Given the description of an element on the screen output the (x, y) to click on. 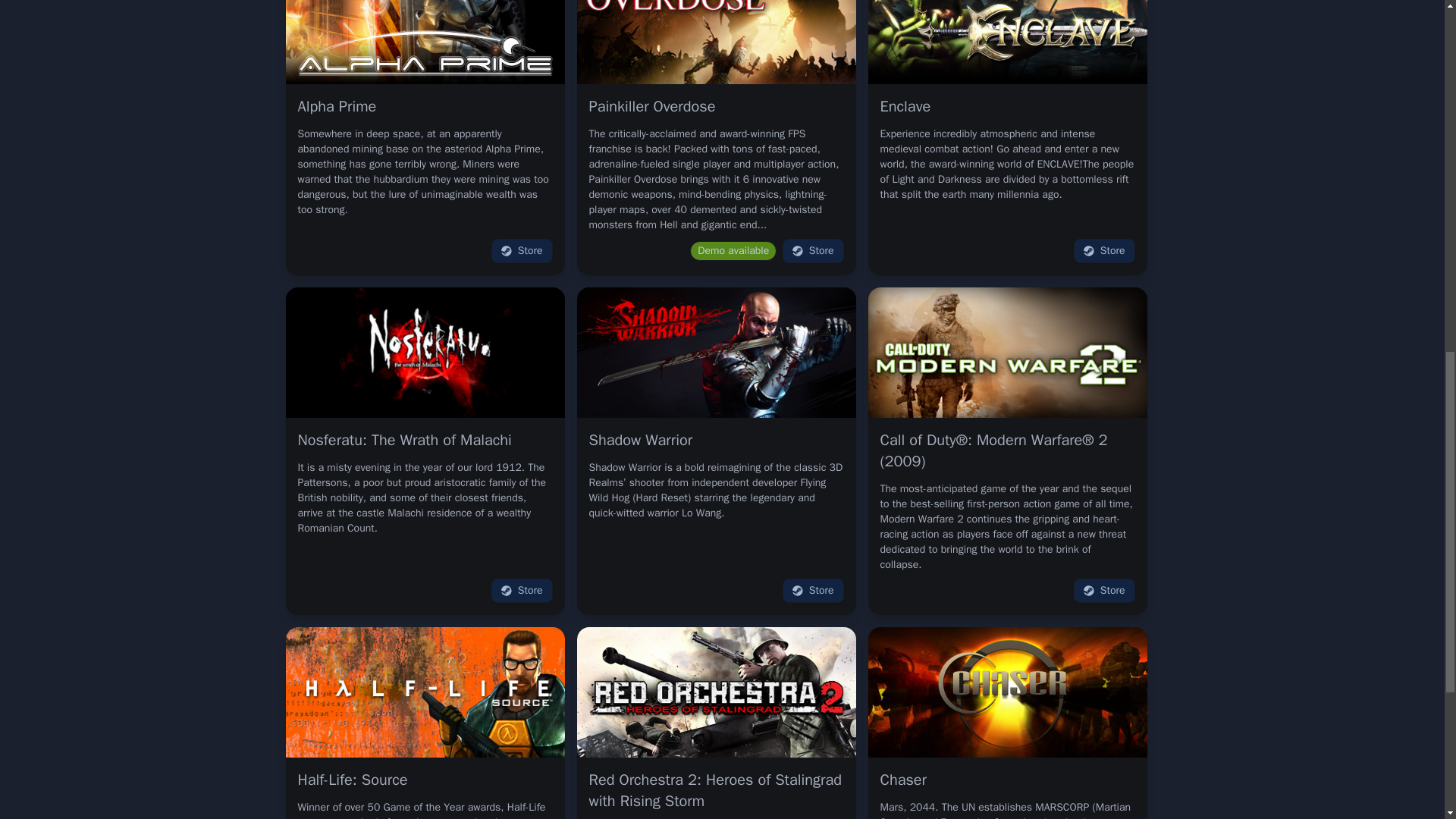
Store (1104, 250)
Store (521, 250)
Shadow Warrior (640, 440)
Alpha Prime (336, 106)
Nosferatu: The Wrath of Malachi (404, 440)
Store (521, 590)
Store (813, 250)
Enclave (904, 106)
Store (813, 590)
Painkiller Overdose (651, 106)
